Given the description of an element on the screen output the (x, y) to click on. 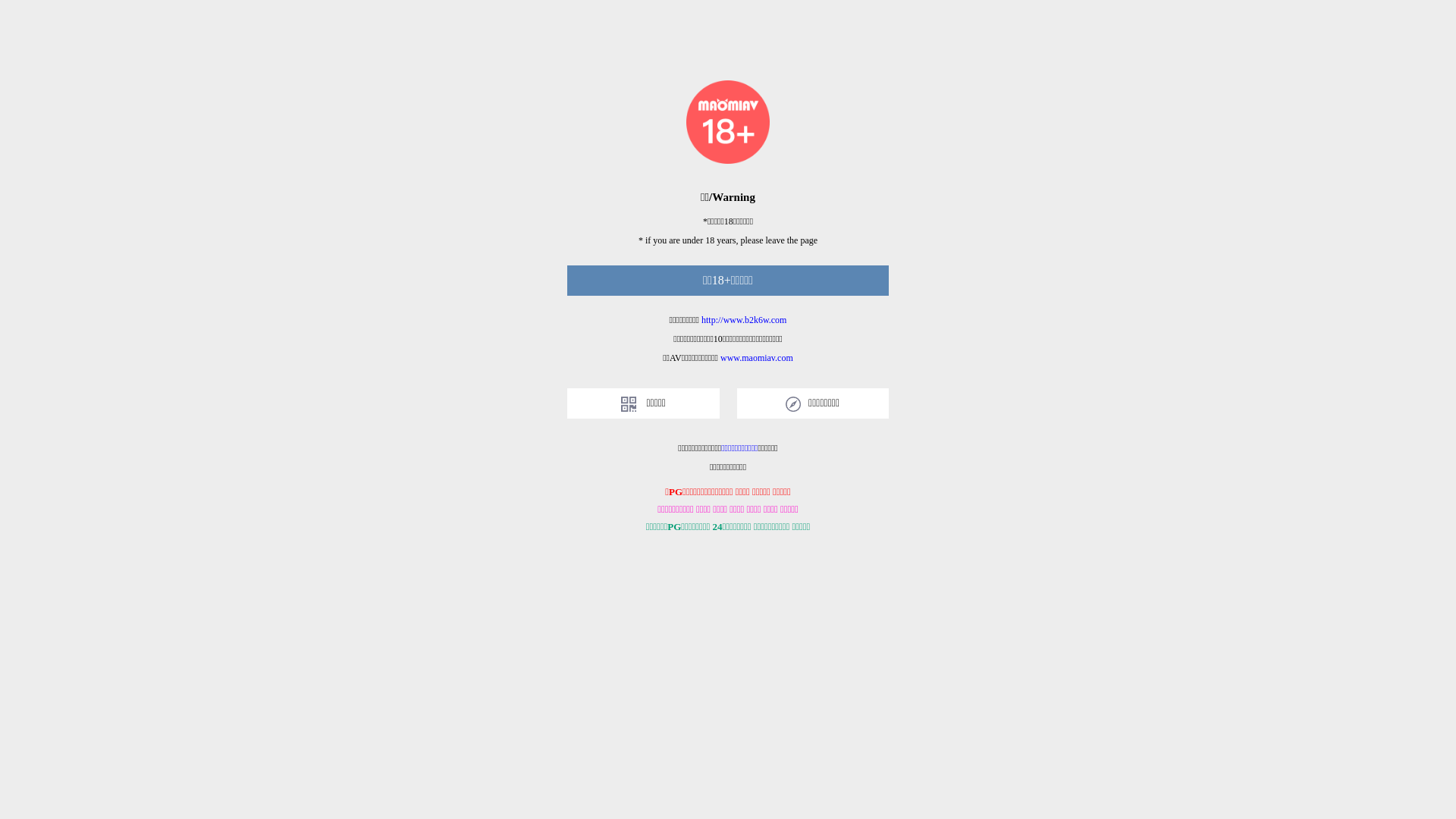
www.maomiav.com Element type: text (756, 357)
http://www.b2k6w.com Element type: text (743, 319)
